Given the description of an element on the screen output the (x, y) to click on. 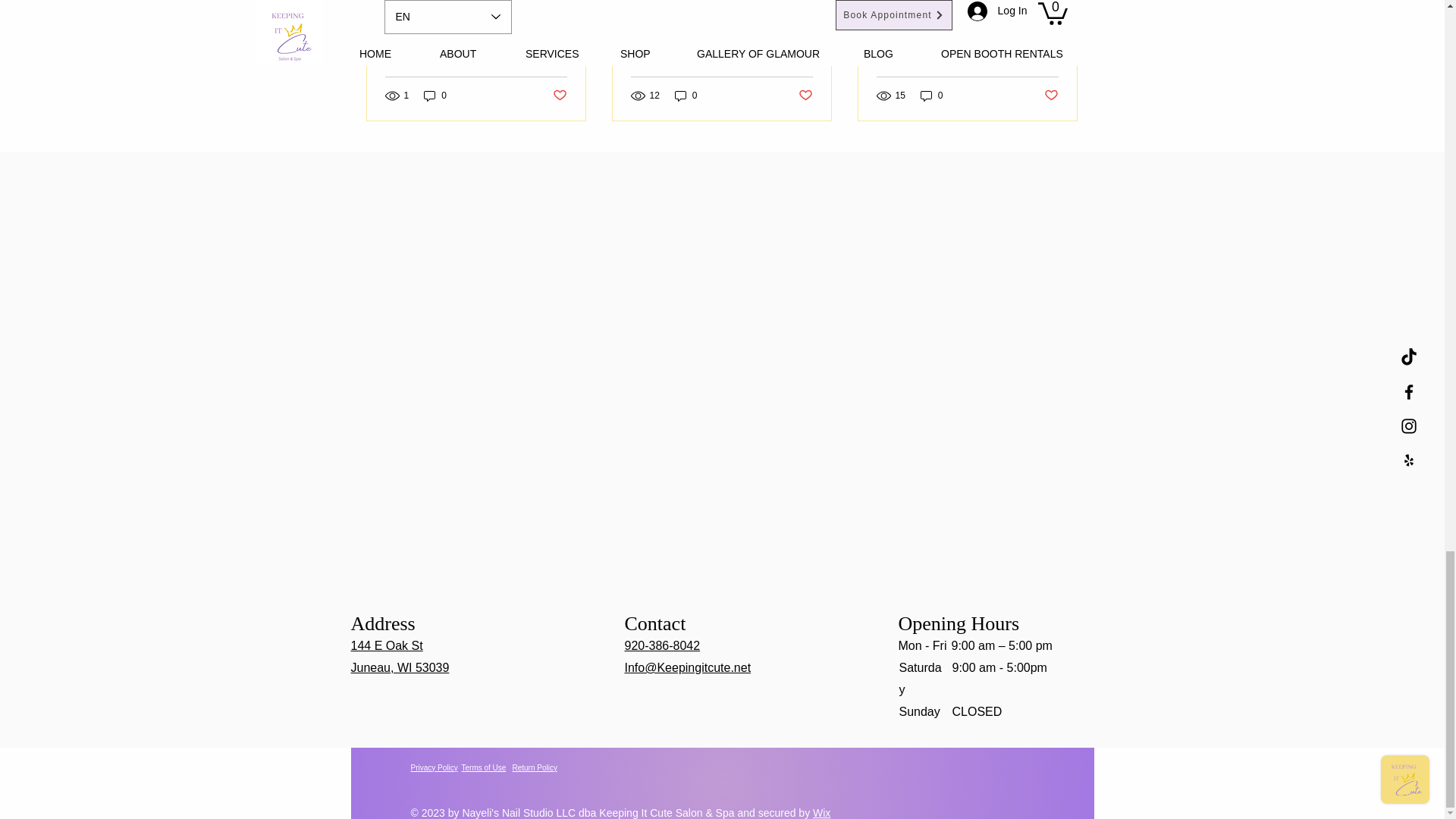
0 (435, 95)
Post not marked as liked (558, 95)
